Given the description of an element on the screen output the (x, y) to click on. 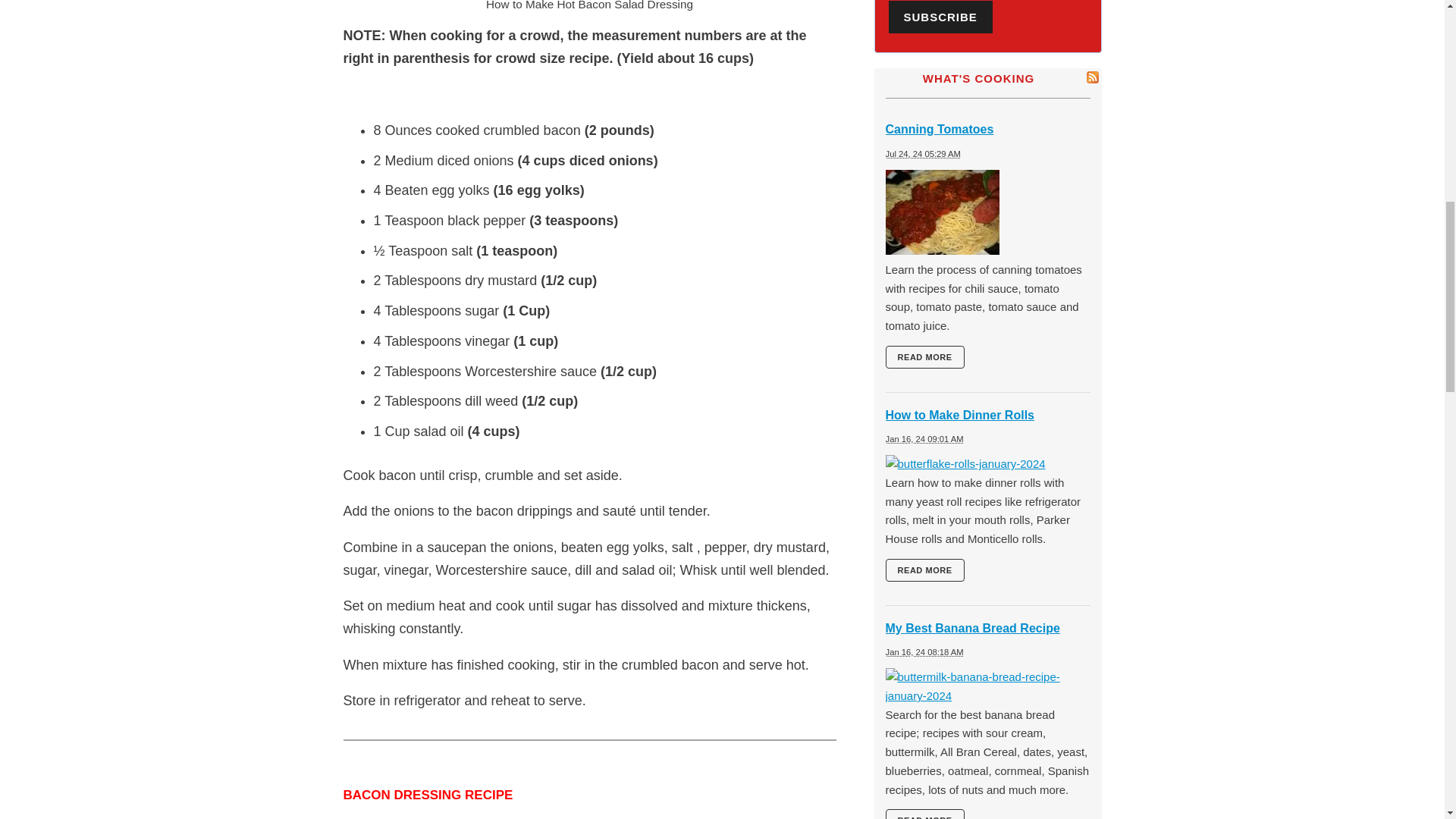
2024-01-16T08:18:16-0500 (924, 651)
2024-01-16T09:01:52-0500 (924, 438)
2024-07-24T05:29:24-0400 (922, 153)
